Given the description of an element on the screen output the (x, y) to click on. 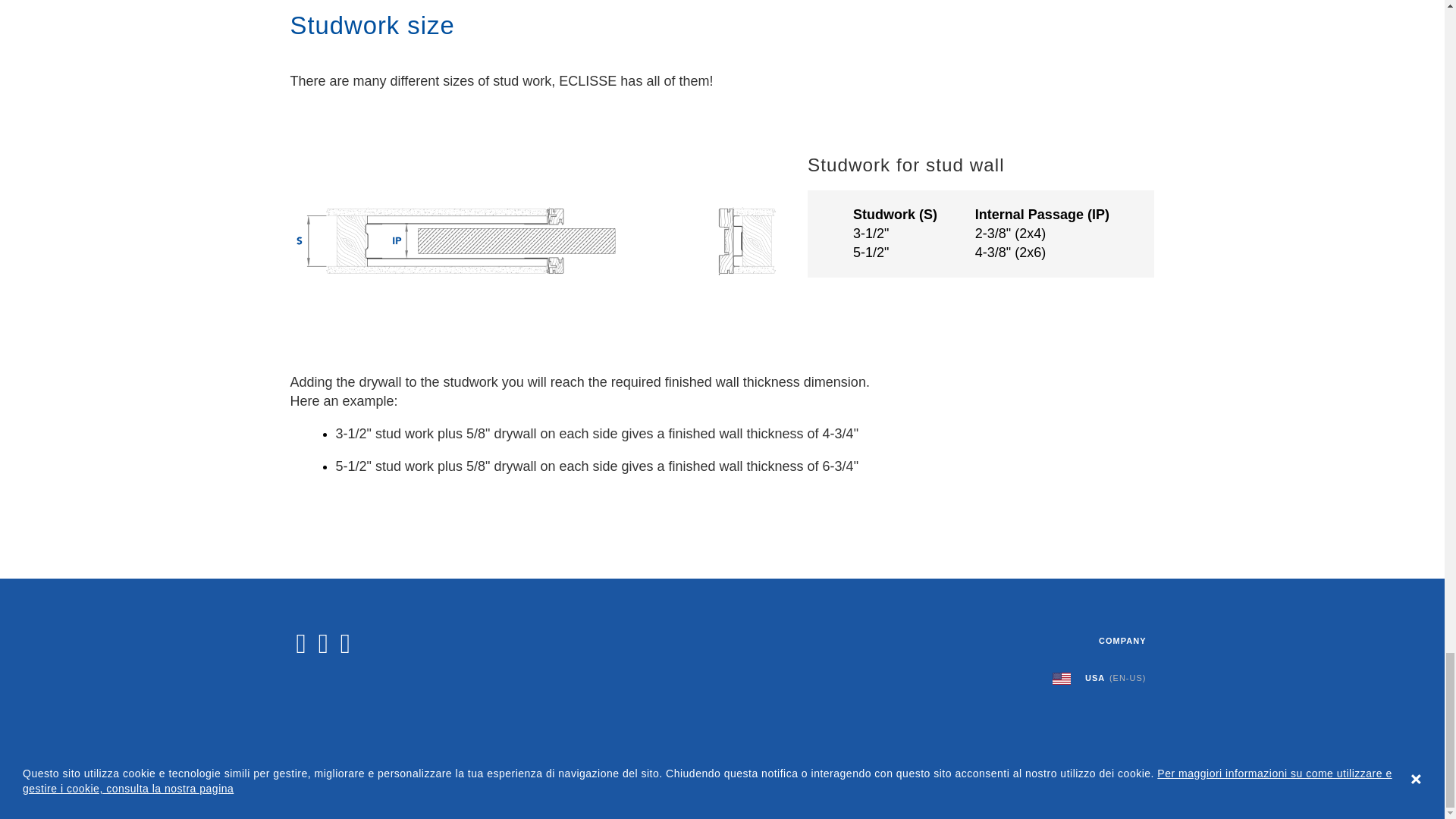
INFORMATIVA SULLA PRIVACY (495, 790)
0438 980513 (667, 772)
COMPANY (1018, 641)
